Given the description of an element on the screen output the (x, y) to click on. 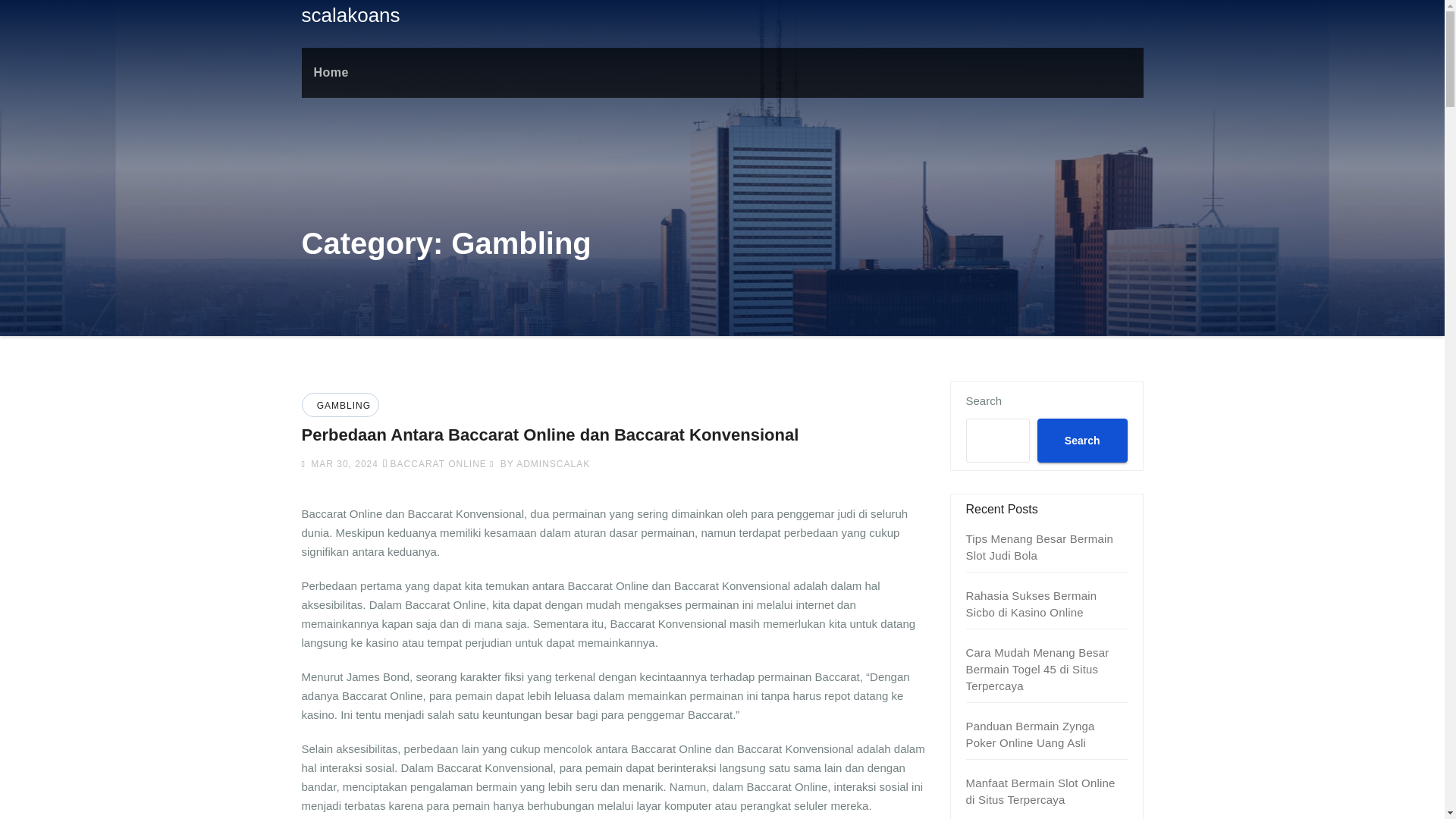
BY ADMINSCALAK (539, 463)
Home (331, 72)
GAMBLING (342, 405)
Home (331, 72)
Perbedaan Antara Baccarat Online dan Baccarat Konvensional (550, 434)
BACCARAT ONLINE (438, 463)
scalakoans (350, 15)
MAR 30, 2024 (342, 463)
